Given the description of an element on the screen output the (x, y) to click on. 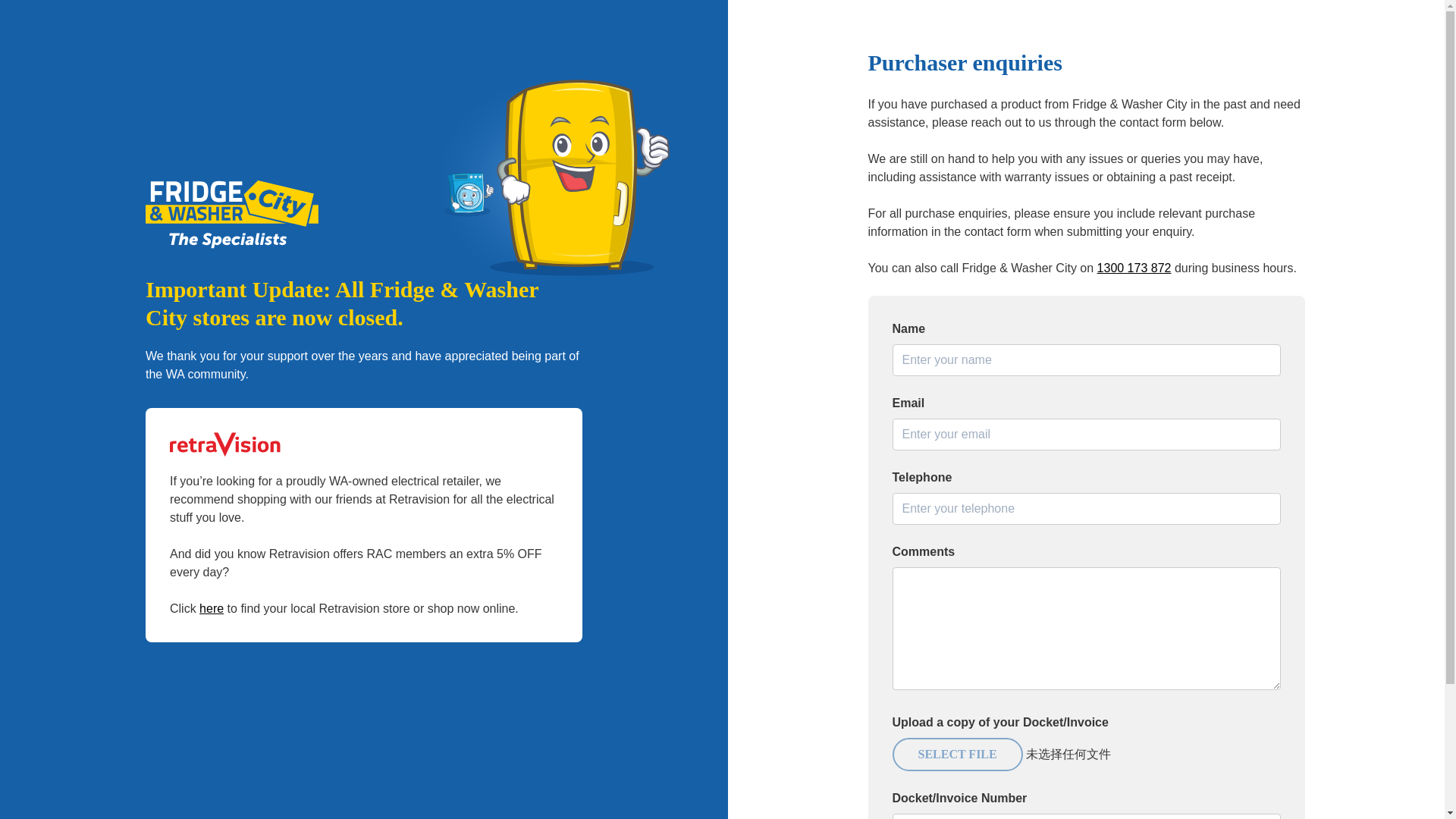
1300 173 872 (1134, 267)
SELECT FILE (956, 753)
here (211, 608)
